Given the description of an element on the screen output the (x, y) to click on. 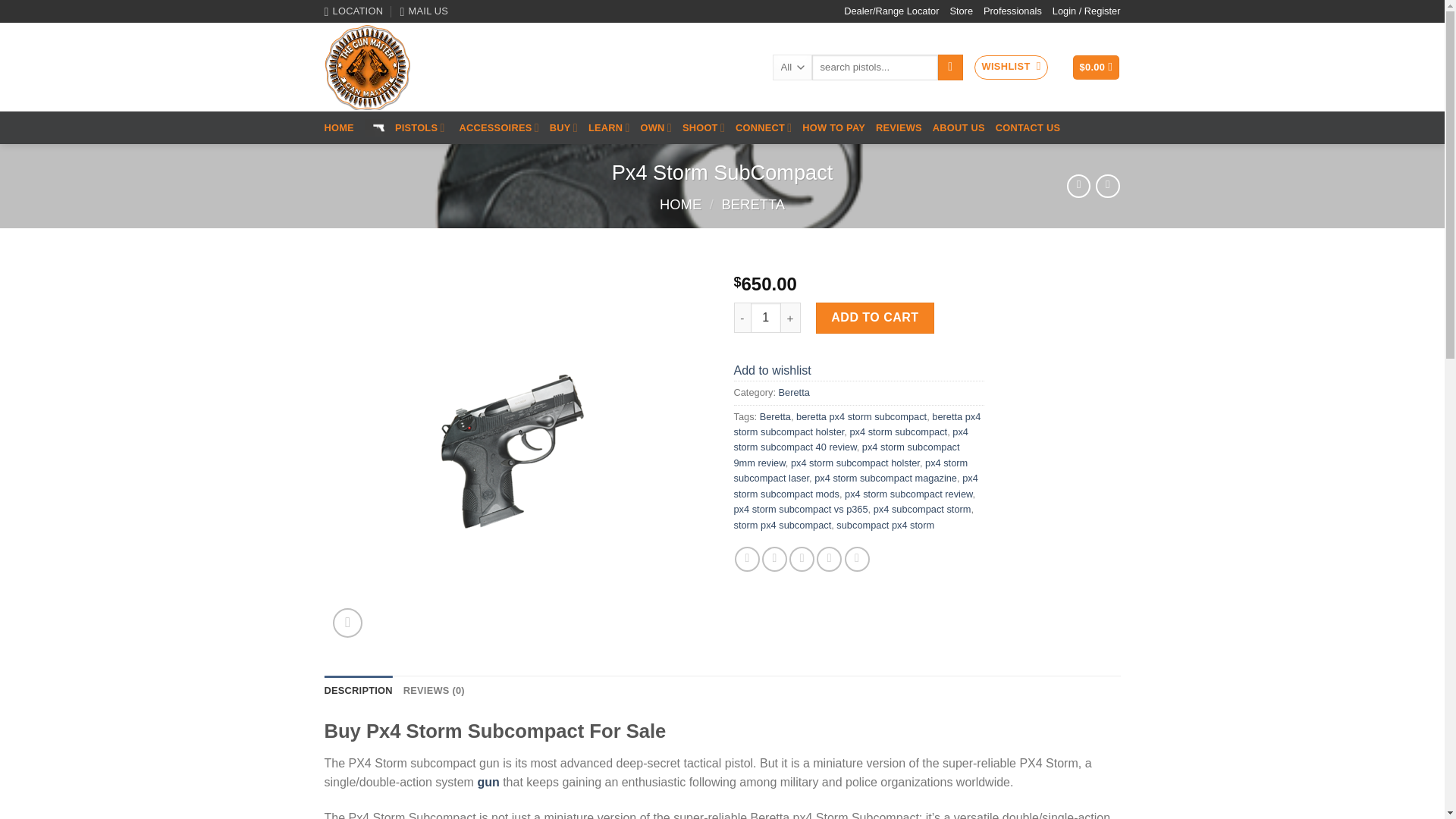
BUY (564, 127)
Search (949, 67)
MAIL US (424, 11)
Zoom (347, 623)
Share on Twitter (774, 559)
WISHLIST (1010, 67)
Pin on Pinterest (828, 559)
ACCESSOIRES (499, 127)
1 (765, 317)
LEARN (609, 127)
Share on LinkedIn (856, 559)
Professionals (1013, 11)
PISTOLS (406, 127)
Share on Facebook (747, 559)
Cart (1096, 67)
